Given the description of an element on the screen output the (x, y) to click on. 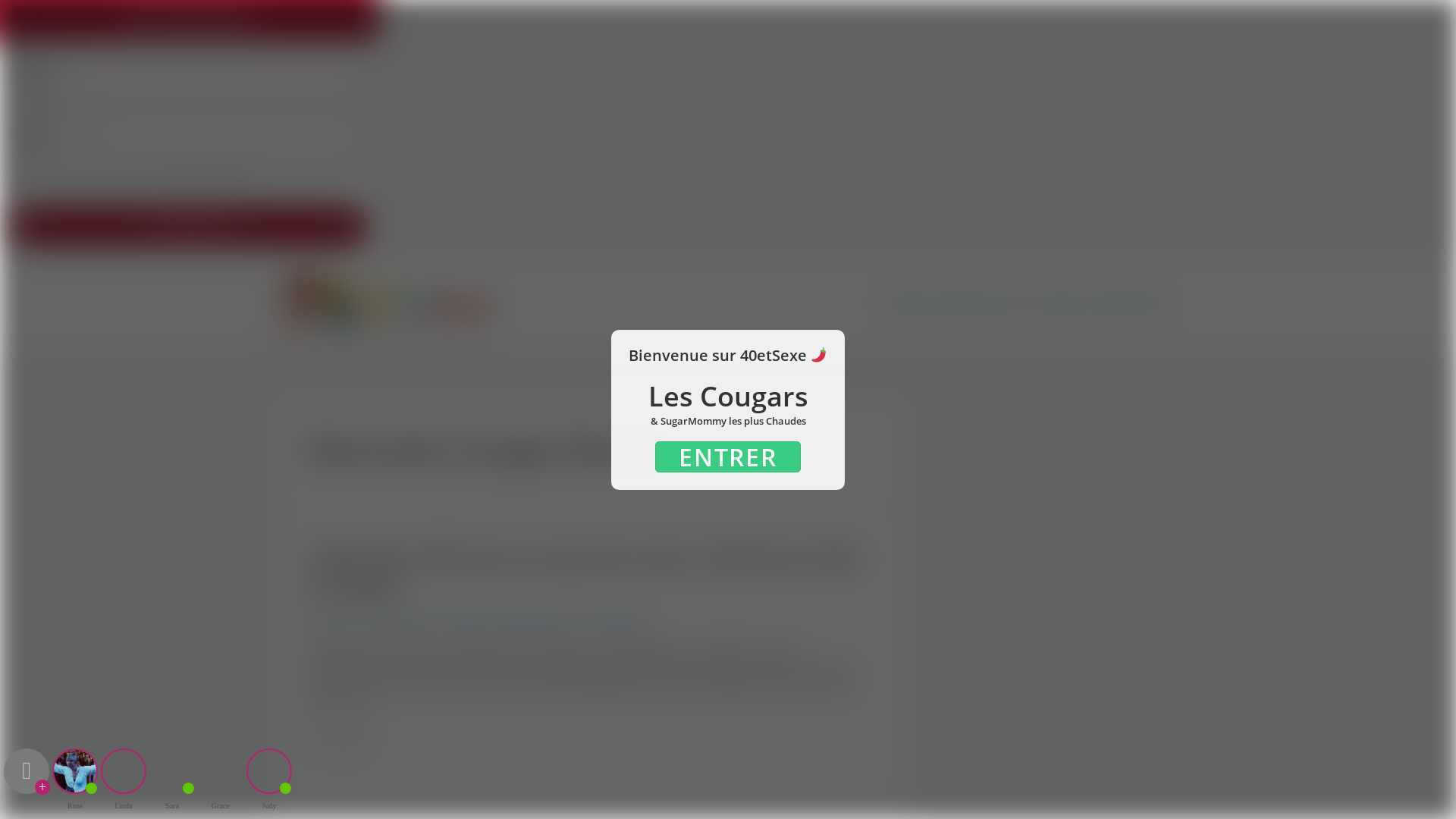
T&Cs Element type: text (177, 176)
ENTRER Element type: text (728, 456)
Privacy policy Element type: text (226, 176)
Laisser un commentaire Element type: text (367, 621)
 CONNEXION  Element type: text (189, 225)
Rencontre Cougar Rennes Element type: text (505, 621)
40etsexe Element type: text (626, 621)
Inscription uniquement pour les Cougars et Sugar Mommy Element type: text (1024, 303)
